Given the description of an element on the screen output the (x, y) to click on. 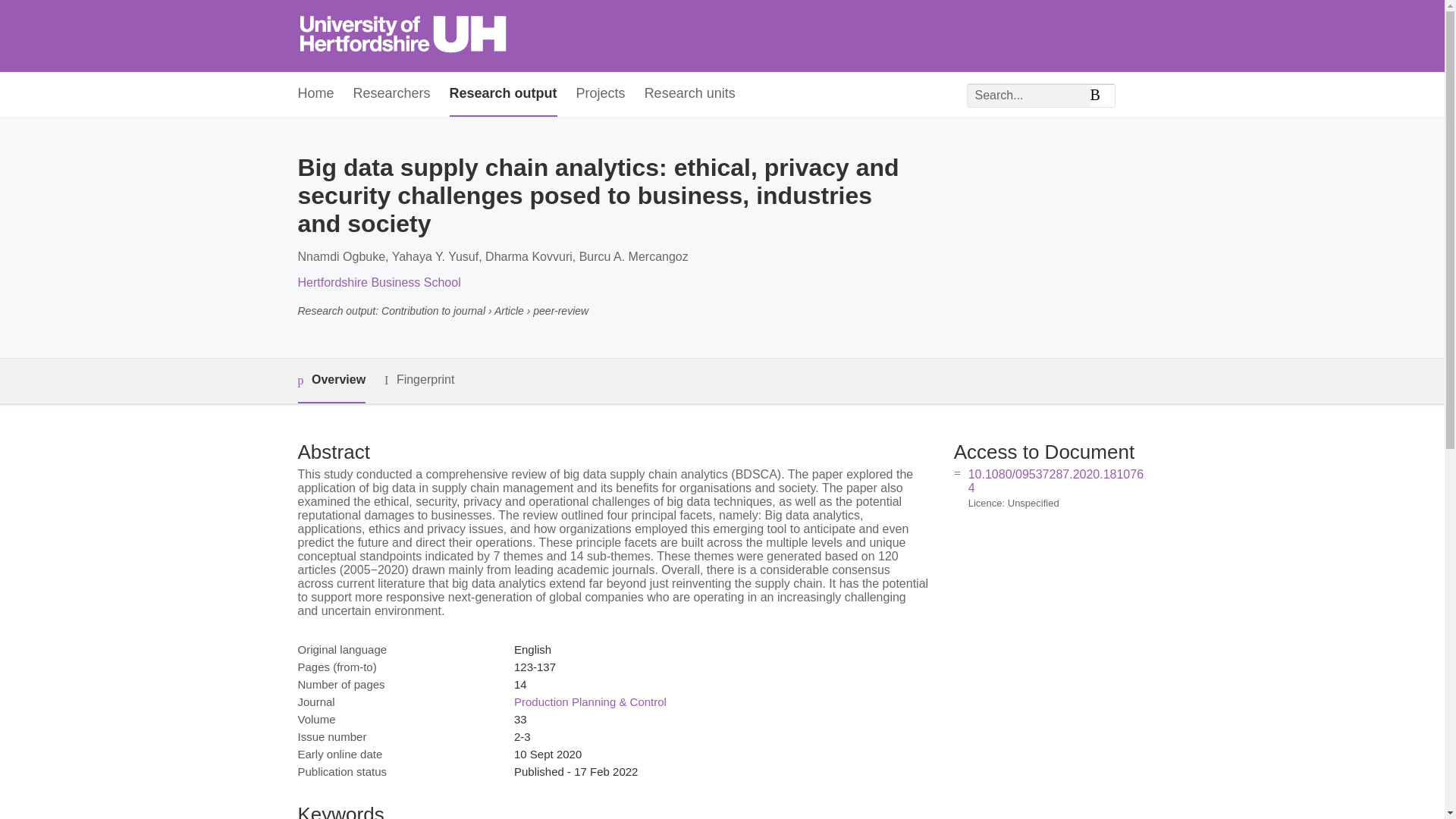
Research output (503, 94)
Hertfordshire Business School (378, 282)
Overview (331, 380)
Fingerprint (419, 380)
Research units (690, 94)
Researchers (391, 94)
Projects (601, 94)
